Given the description of an element on the screen output the (x, y) to click on. 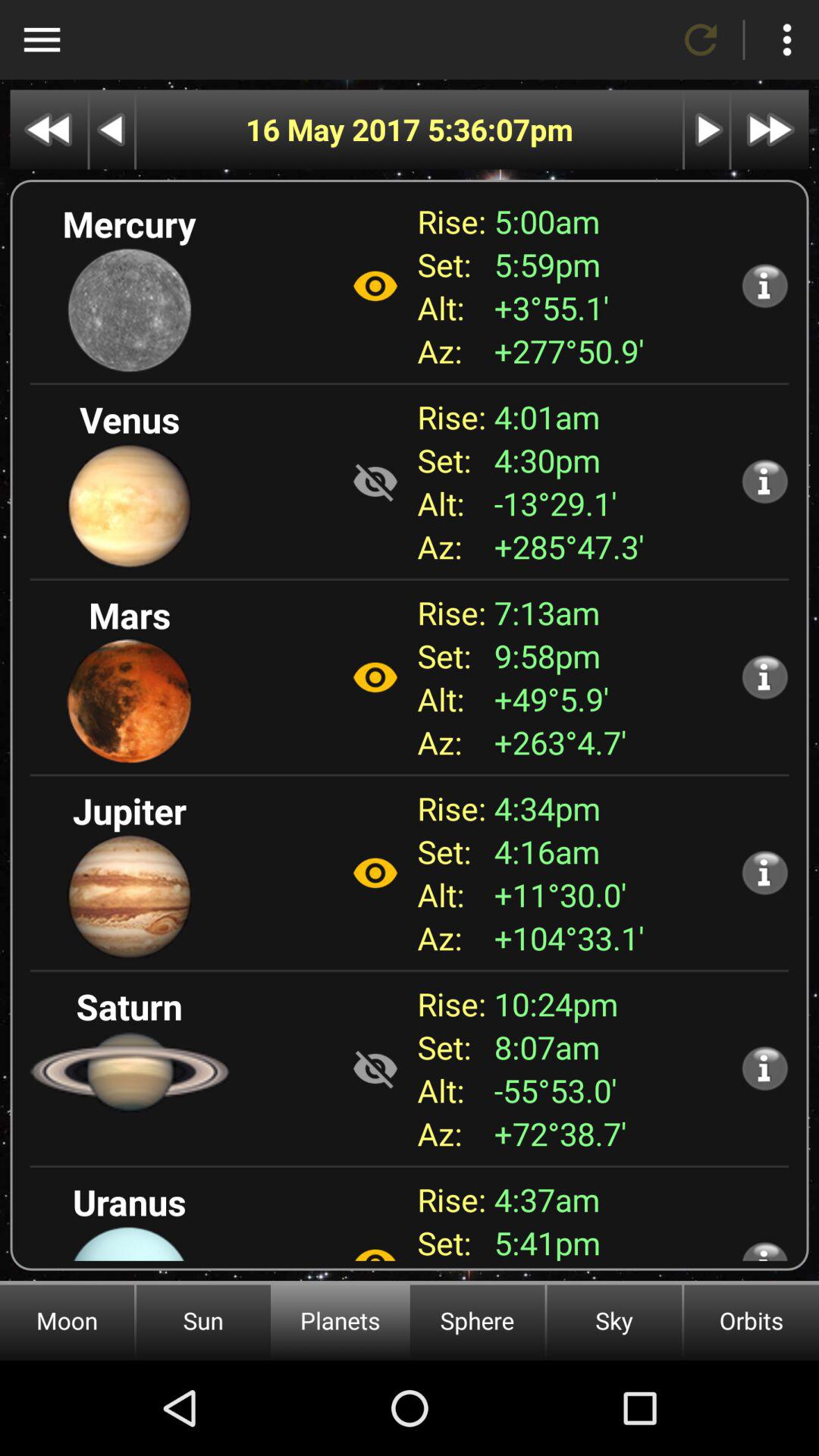
show more menu (787, 39)
